Given the description of an element on the screen output the (x, y) to click on. 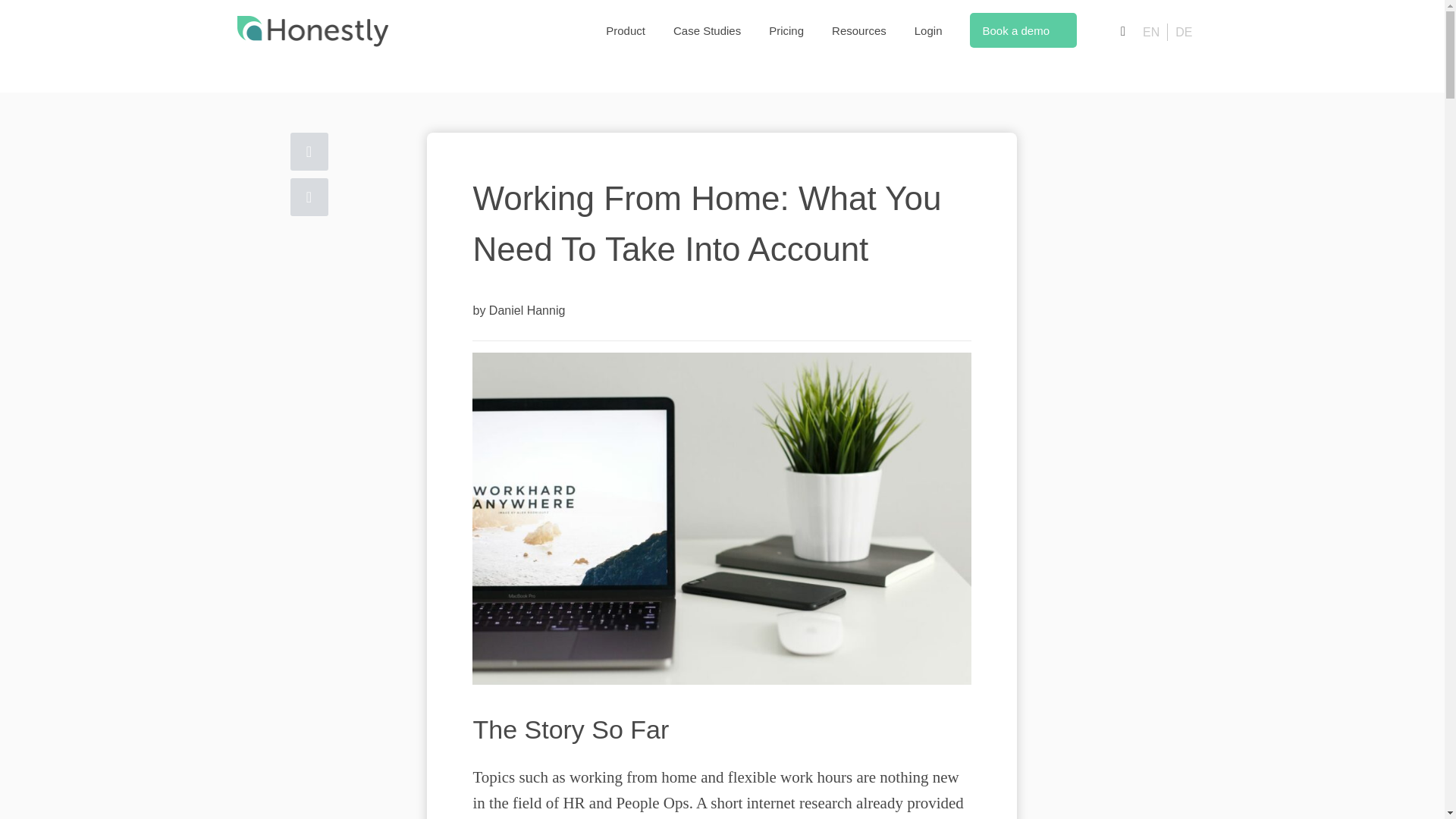
Book a demo (1023, 30)
linkedin (308, 151)
Case Studies (706, 29)
EN (1150, 31)
DE (1183, 31)
email (308, 197)
Pricing (785, 29)
Login (928, 29)
